Given the description of an element on the screen output the (x, y) to click on. 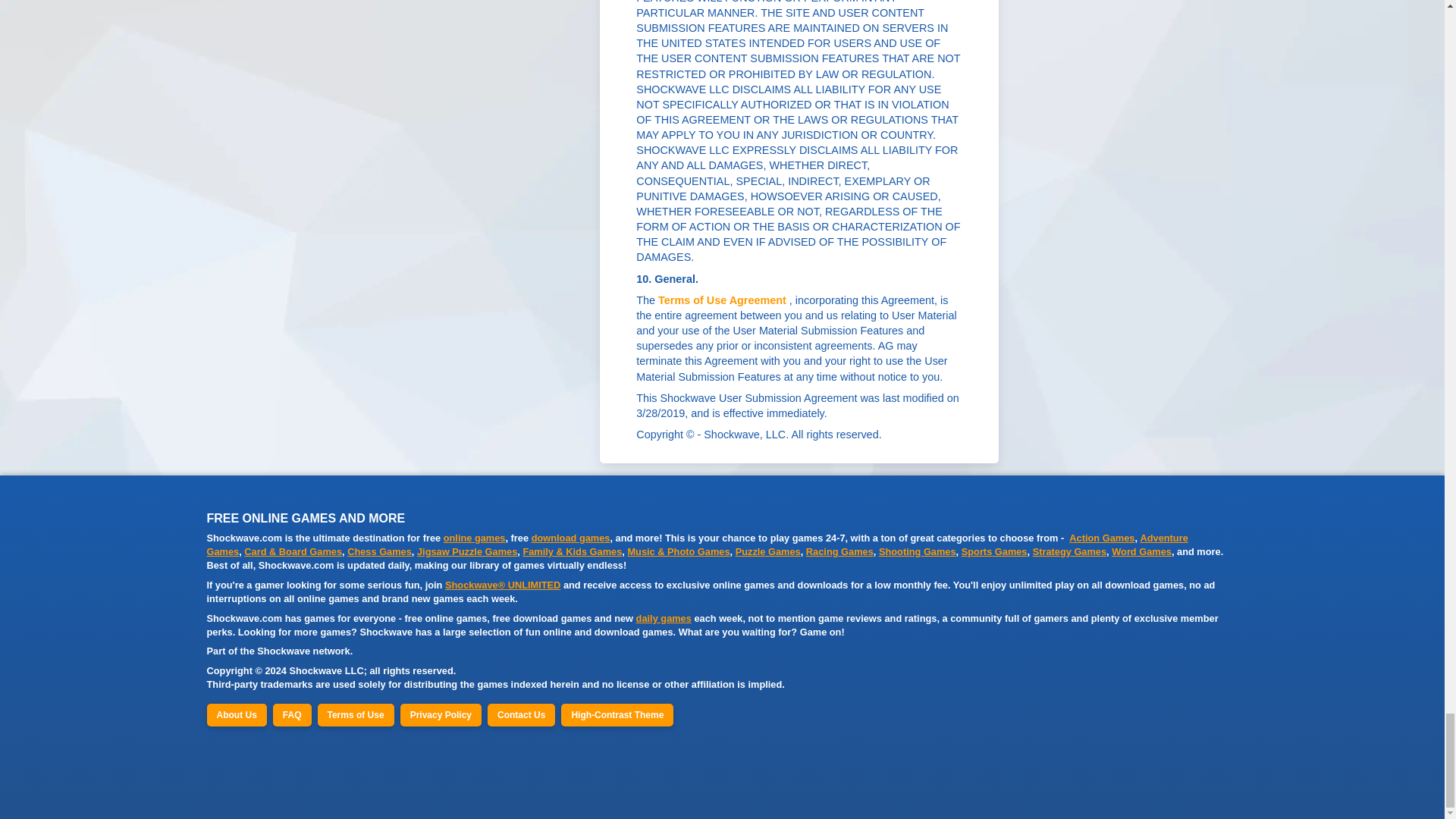
Adventure Games (697, 544)
Action Games (1101, 537)
download games (570, 537)
Terms of Use Agreement (722, 300)
online games (474, 537)
